Given the description of an element on the screen output the (x, y) to click on. 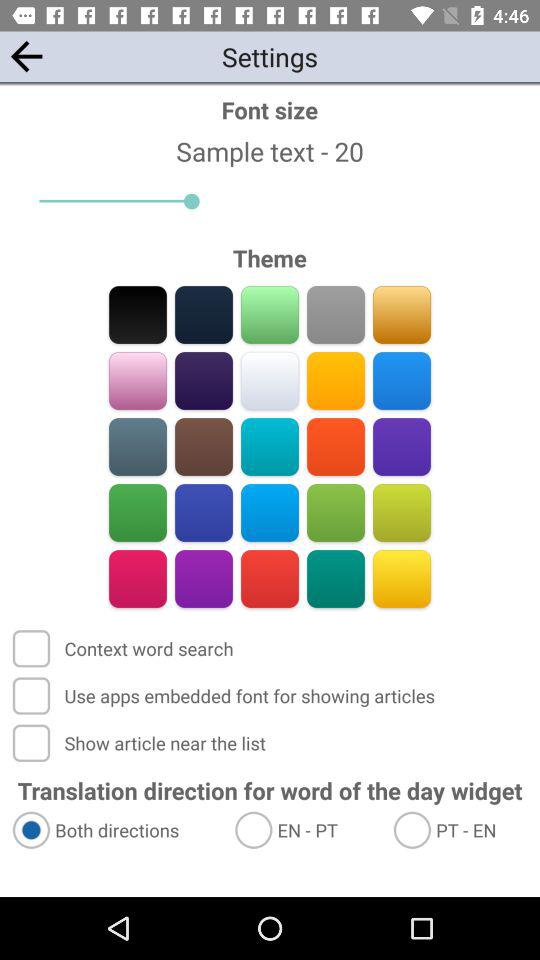
orange theme color (335, 446)
